Given the description of an element on the screen output the (x, y) to click on. 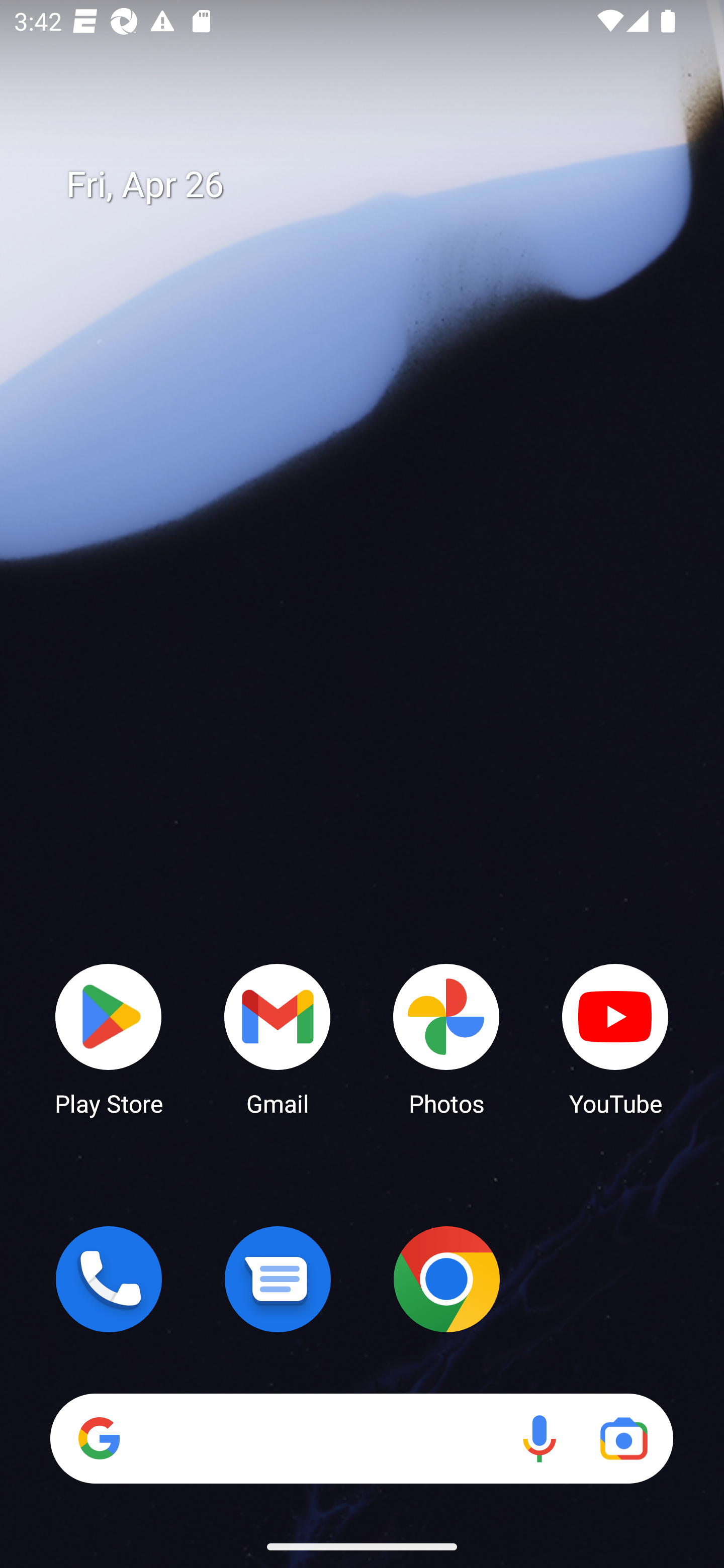
Fri, Apr 26 (375, 184)
Play Store (108, 1038)
Gmail (277, 1038)
Photos (445, 1038)
YouTube (615, 1038)
Phone (108, 1279)
Messages (277, 1279)
Chrome (446, 1279)
Search Voice search Google Lens (361, 1438)
Voice search (539, 1438)
Google Lens (623, 1438)
